Given the description of an element on the screen output the (x, y) to click on. 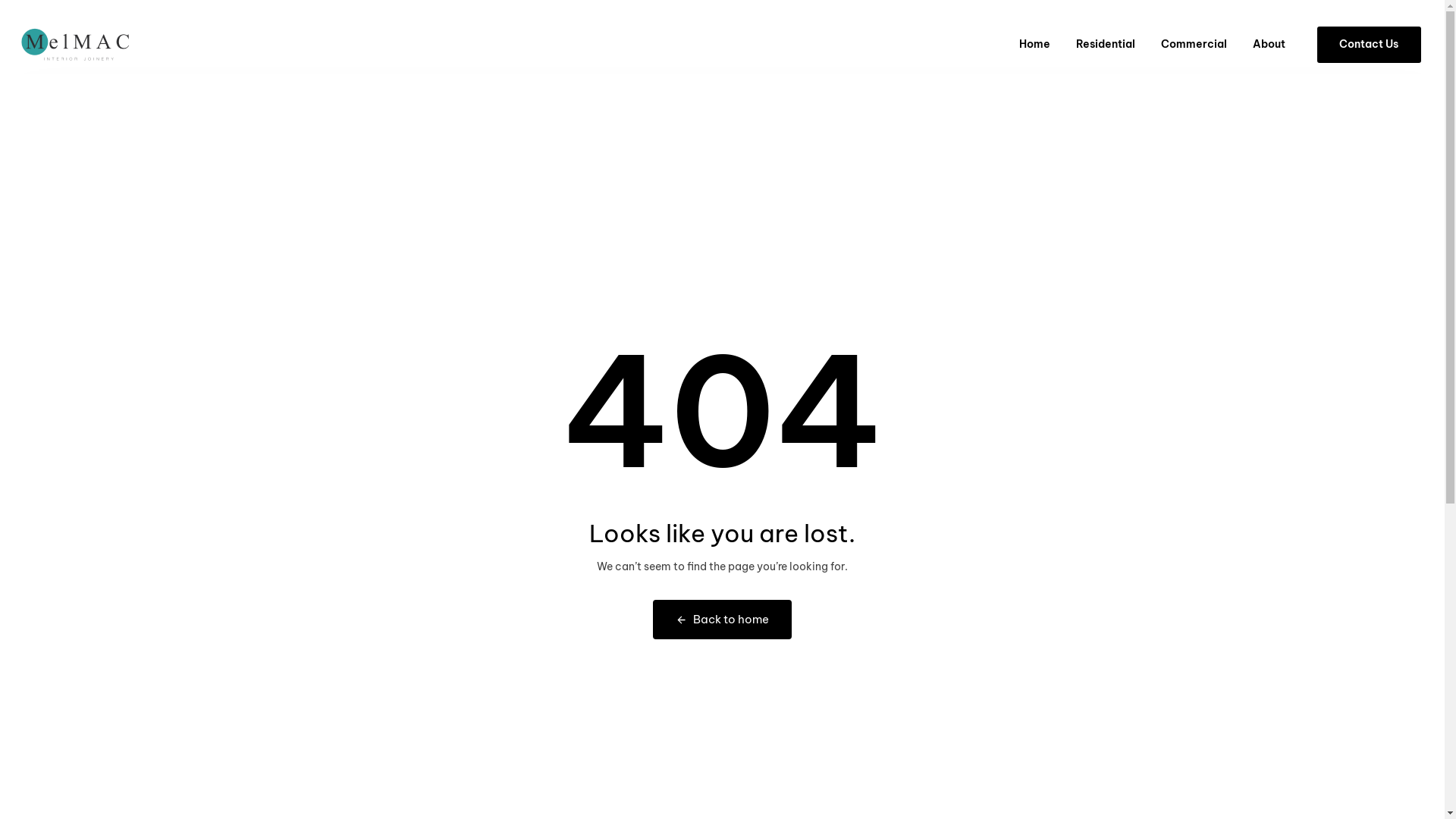
Commercial Element type: text (1193, 44)
Residential Element type: text (1081, 516)
9524 5411 Element type: text (635, 538)
About Element type: text (1268, 44)
About Element type: text (929, 541)
Contact Us Element type: text (929, 565)
Ozlocal Element type: text (1122, 765)
Home Element type: text (1034, 44)
mal@melmac.com.au Element type: text (673, 611)
Home Element type: text (929, 516)
C
o
n
t
a
c
t
U
s Element type: text (1369, 44)
Residential Element type: text (1105, 44)
Back to home Element type: text (721, 619)
Commercial Element type: text (1081, 541)
